Given the description of an element on the screen output the (x, y) to click on. 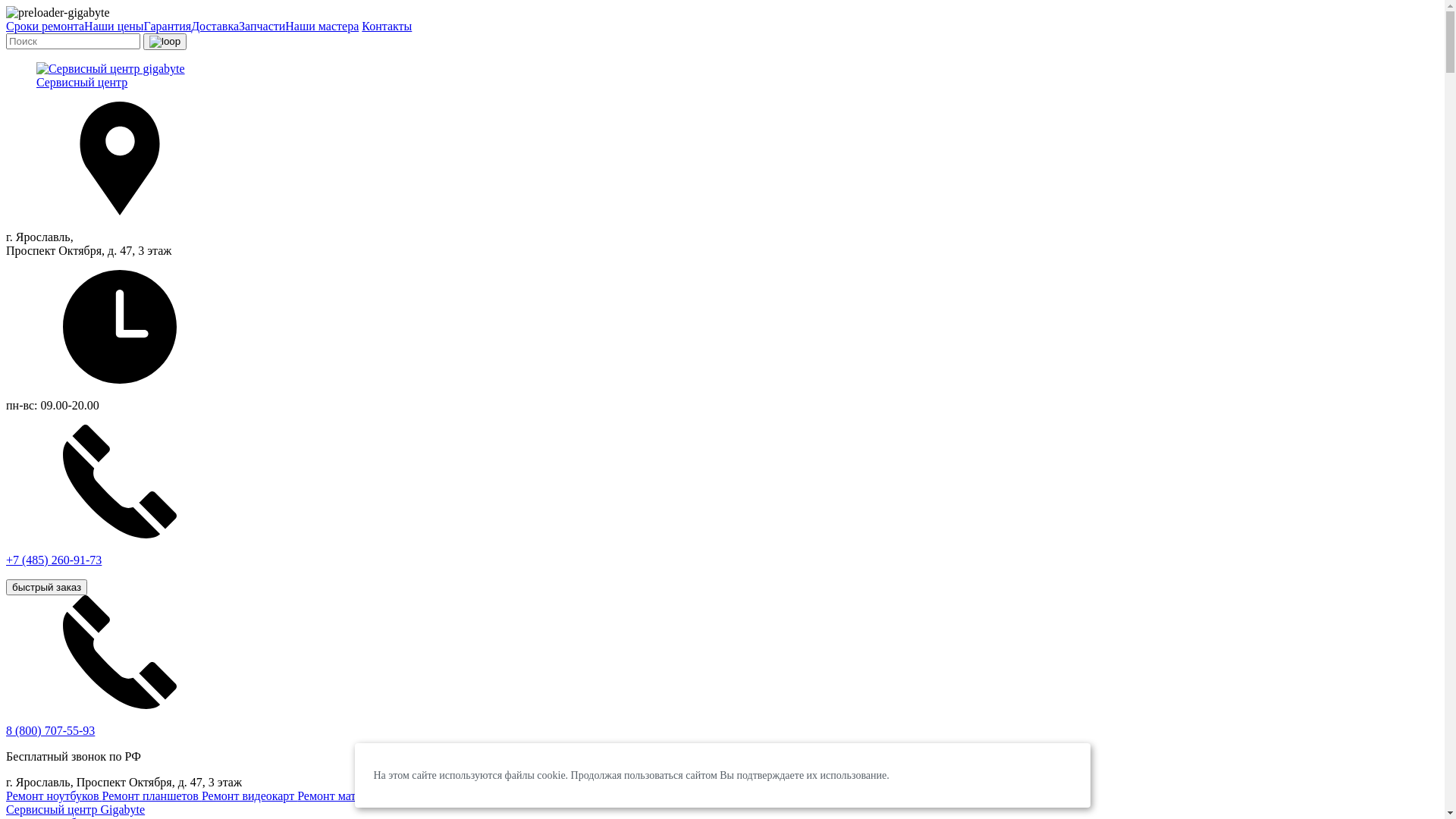
+7 (485) 260-91-73 Element type: text (722, 508)
sisea.search Element type: text (164, 41)
8 (800) 707-55-93 Element type: text (50, 730)
